Given the description of an element on the screen output the (x, y) to click on. 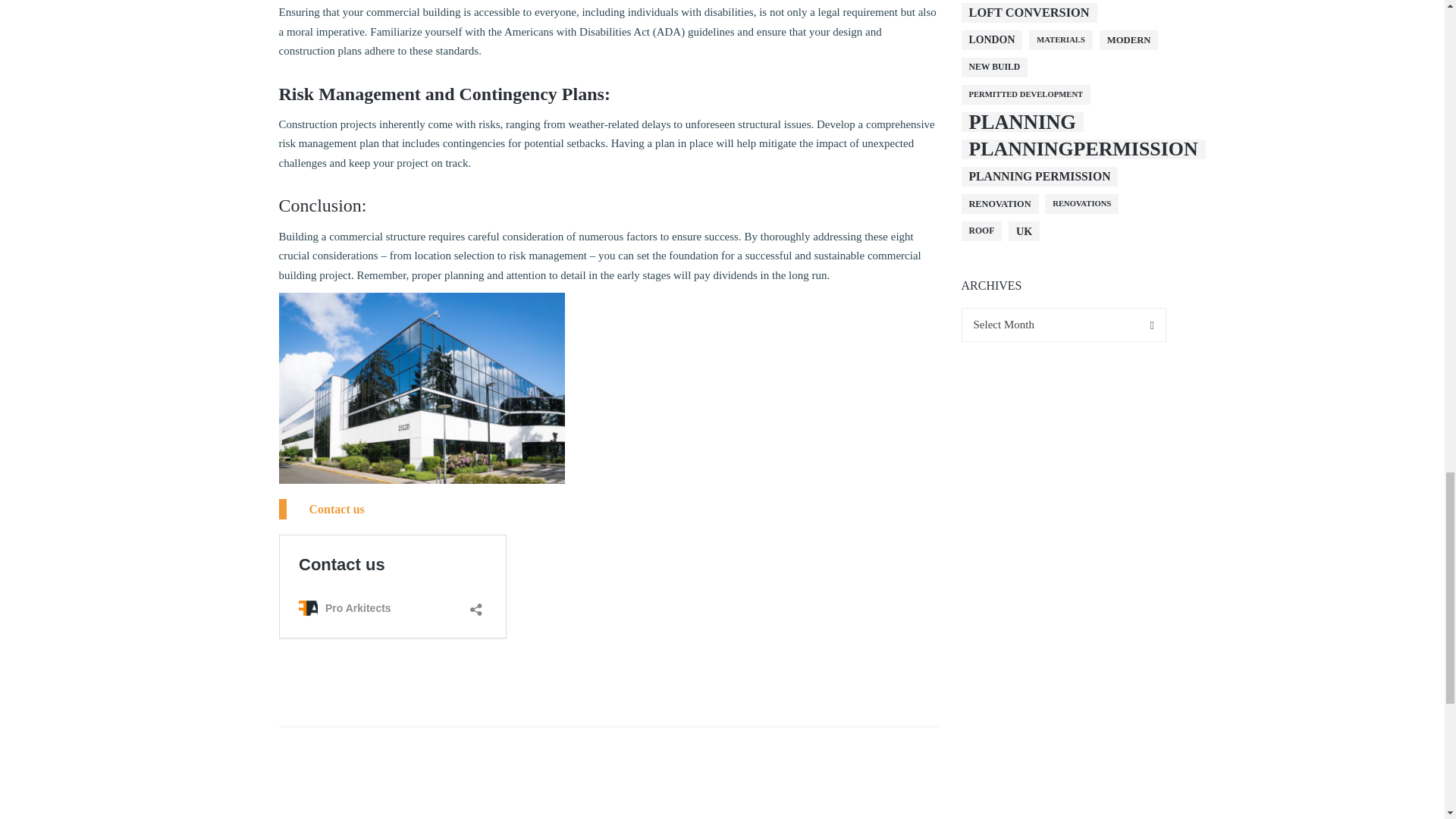
Contact us (336, 508)
